Given the description of an element on the screen output the (x, y) to click on. 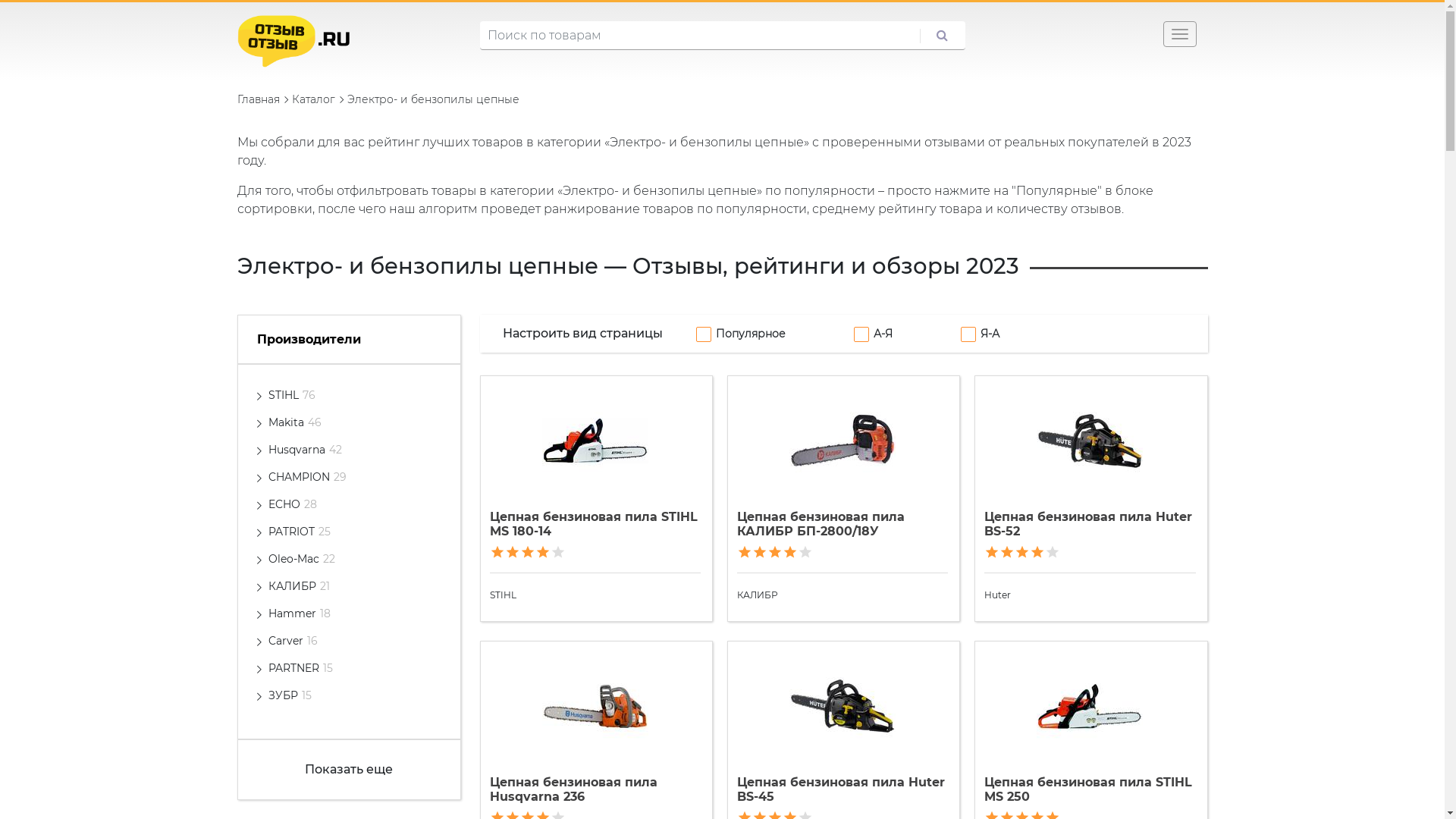
Carver16 Element type: text (292, 640)
Hammer18 Element type: text (299, 613)
PARTNER15 Element type: text (300, 667)
PATRIOT25 Element type: text (299, 531)
Makita46 Element type: text (294, 422)
Husqvarna42 Element type: text (305, 449)
CHAMPION29 Element type: text (307, 476)
STIHL76 Element type: text (291, 394)
Oleo-Mac22 Element type: text (301, 558)
Toggle navigation Element type: text (1179, 34)
ECHO28 Element type: text (292, 504)
